Given the description of an element on the screen output the (x, y) to click on. 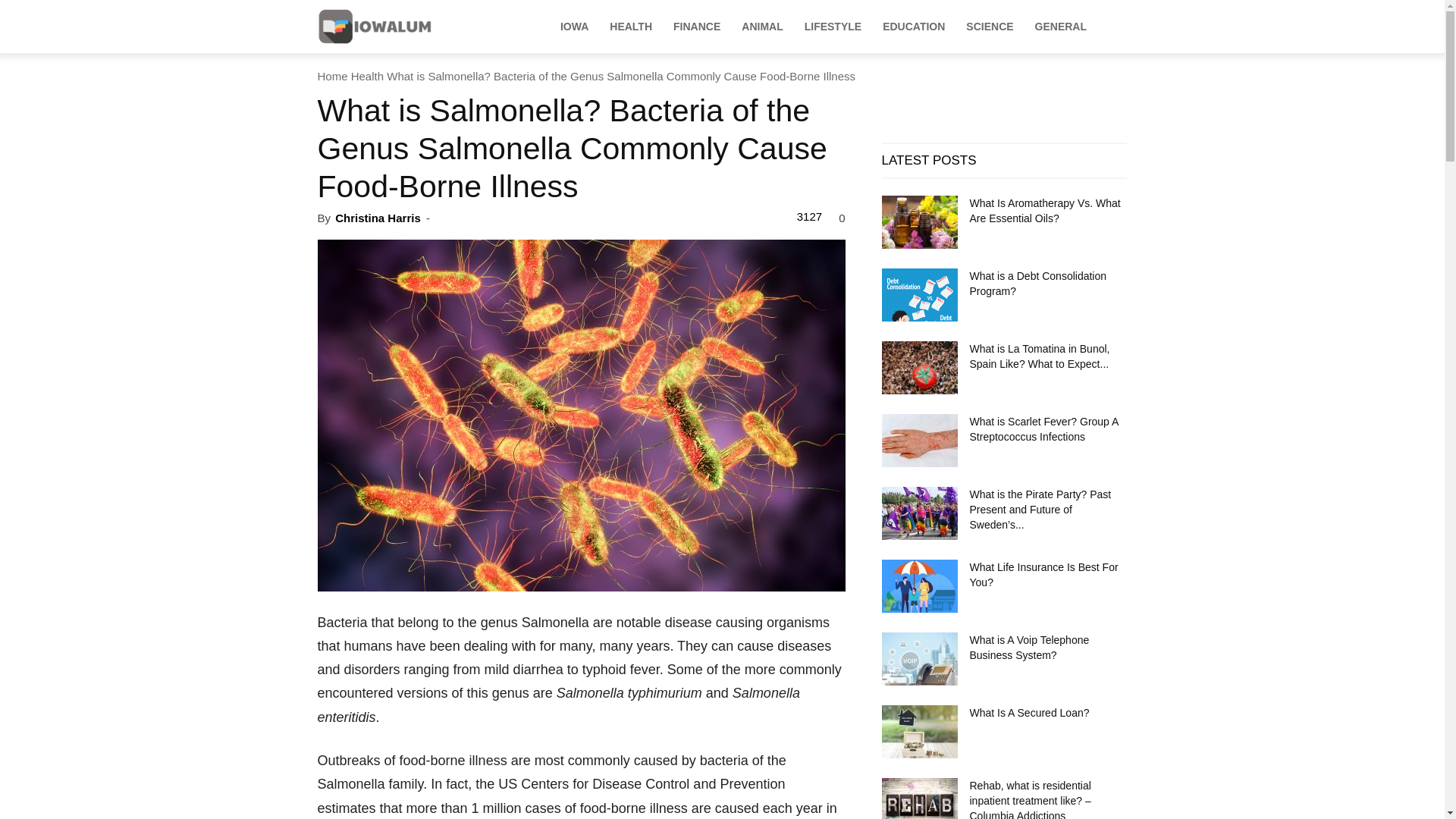
Home (332, 75)
EDUCATION (913, 26)
SCIENCE (989, 26)
Health (367, 75)
HEALTH (630, 26)
IOWA (574, 26)
iowalum.com (418, 26)
ANIMAL (761, 26)
LIFESTYLE (832, 26)
